Given the description of an element on the screen output the (x, y) to click on. 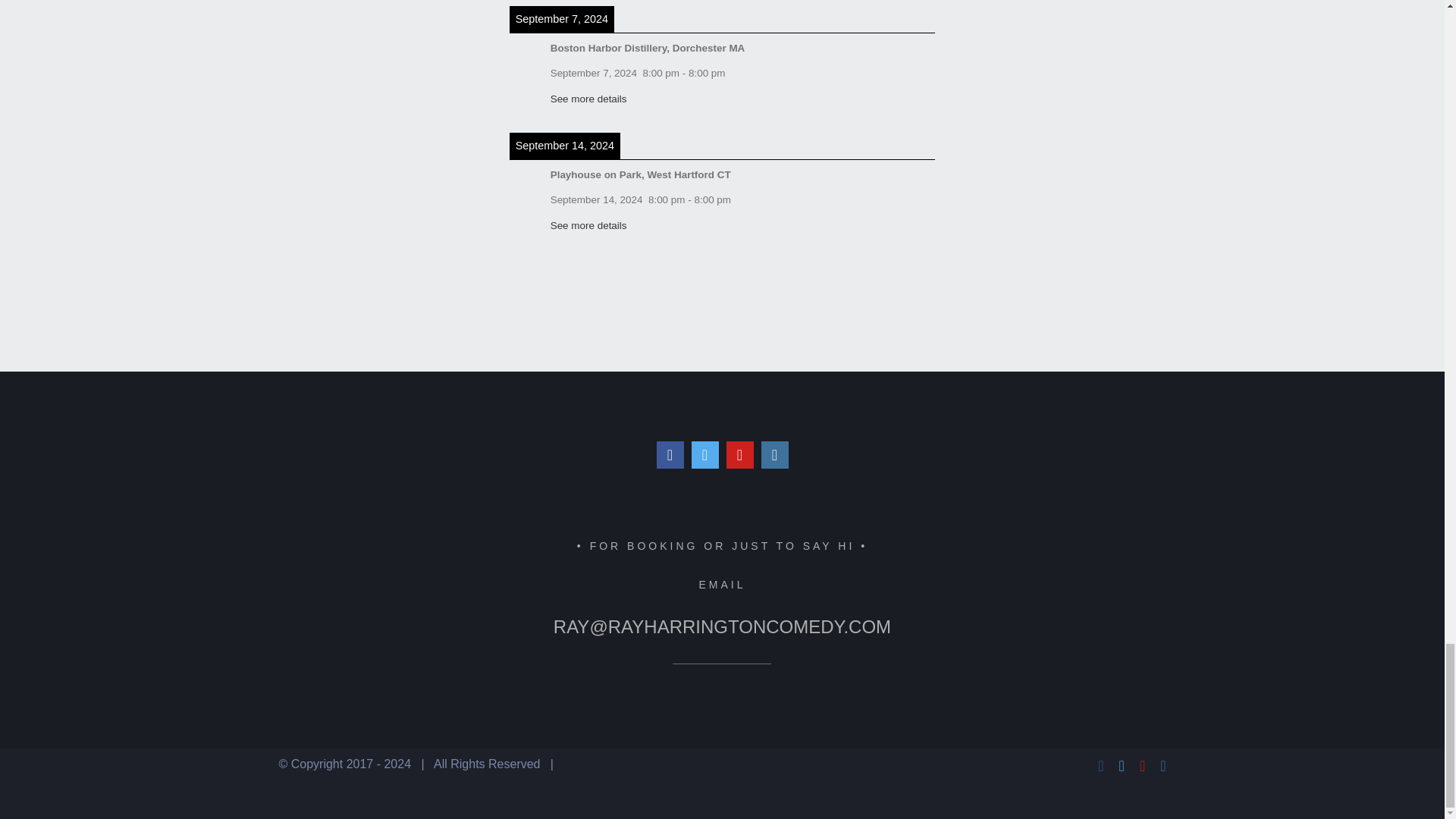
See more details (588, 98)
Twitter (705, 454)
See more details (588, 225)
Facebook (670, 454)
YouTube (740, 454)
Instagram (775, 454)
